Given the description of an element on the screen output the (x, y) to click on. 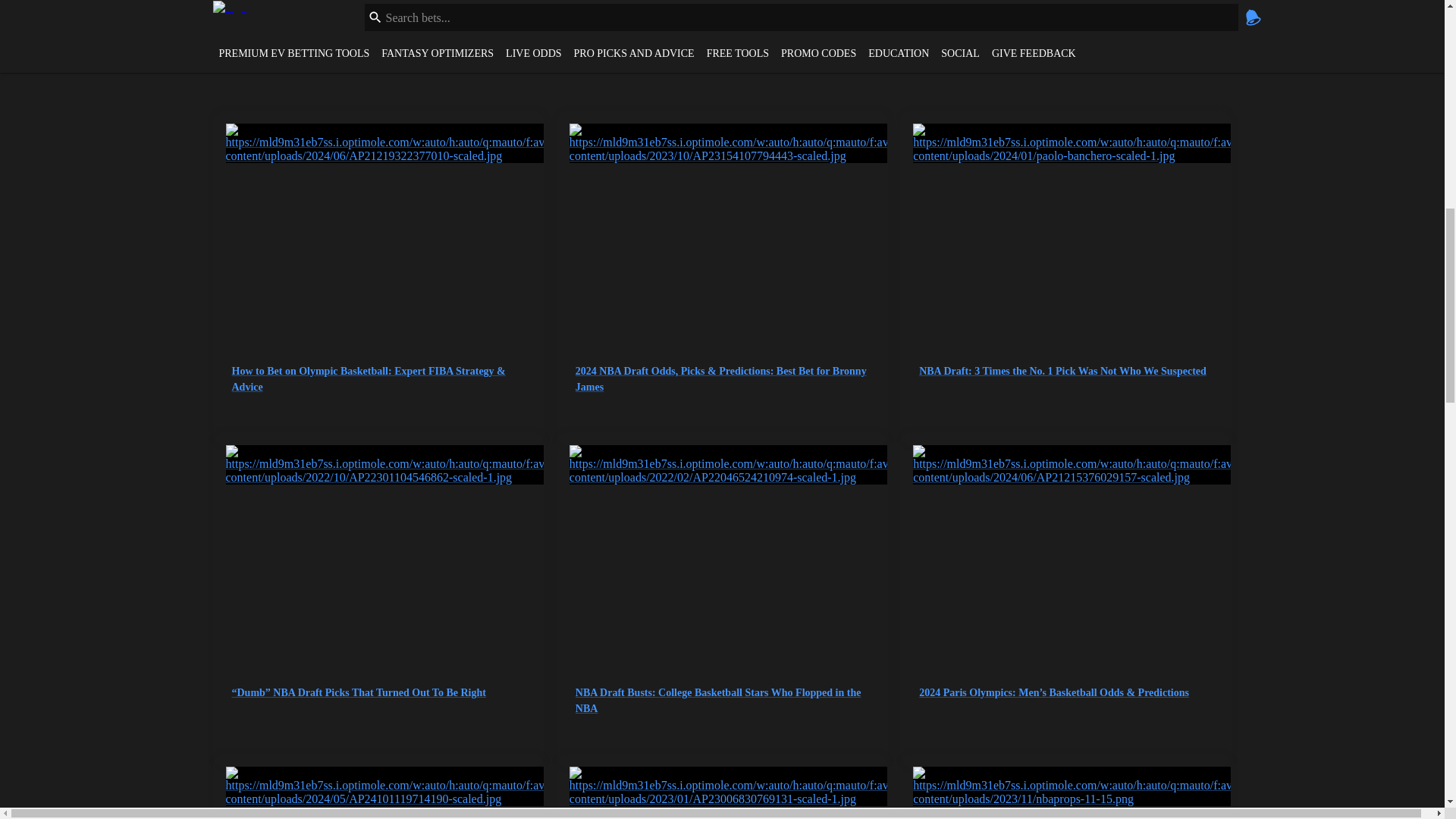
Betting Articles (292, 35)
NBA Draft: 3 Times the No. 1 Pick Was Not Who We Suspected (1065, 257)
Best NBA Player Prop Bets Today for Mavericks-Celtics Game 5 (1065, 792)
